Given the description of an element on the screen output the (x, y) to click on. 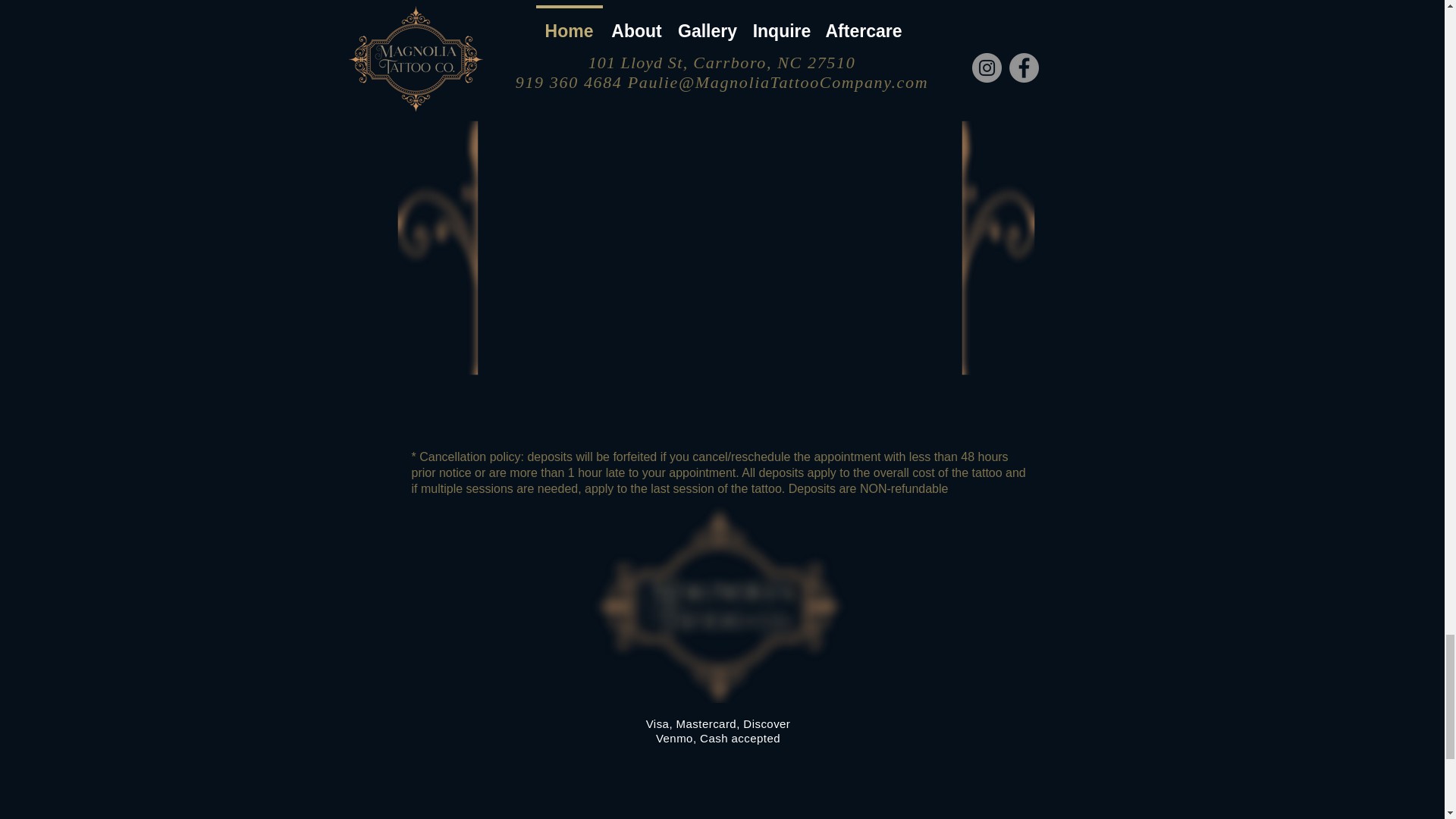
Untitled-1.png (719, 602)
06.png (1087, 156)
06.png (523, 160)
